Given the description of an element on the screen output the (x, y) to click on. 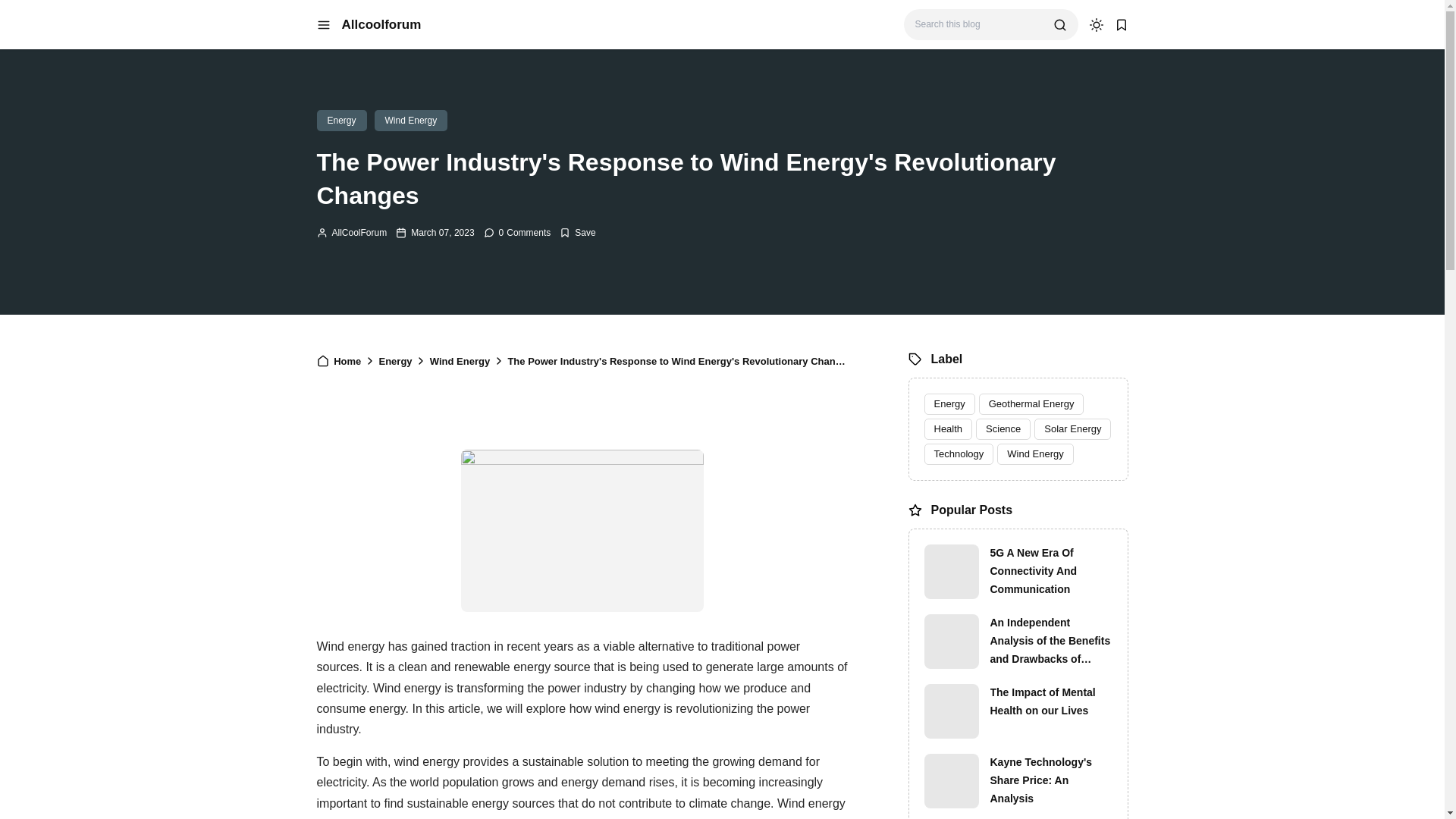
Wind Energy (461, 360)
Energy (341, 120)
AllCoolForum (352, 232)
Energy (396, 360)
Geothermal Energy (1031, 403)
The Impact of Mental Health on our Lives (950, 710)
Wind Energy (461, 360)
Kayne Technology's Share Price: An Analysis (950, 780)
Wind Energy (1035, 454)
